Given the description of an element on the screen output the (x, y) to click on. 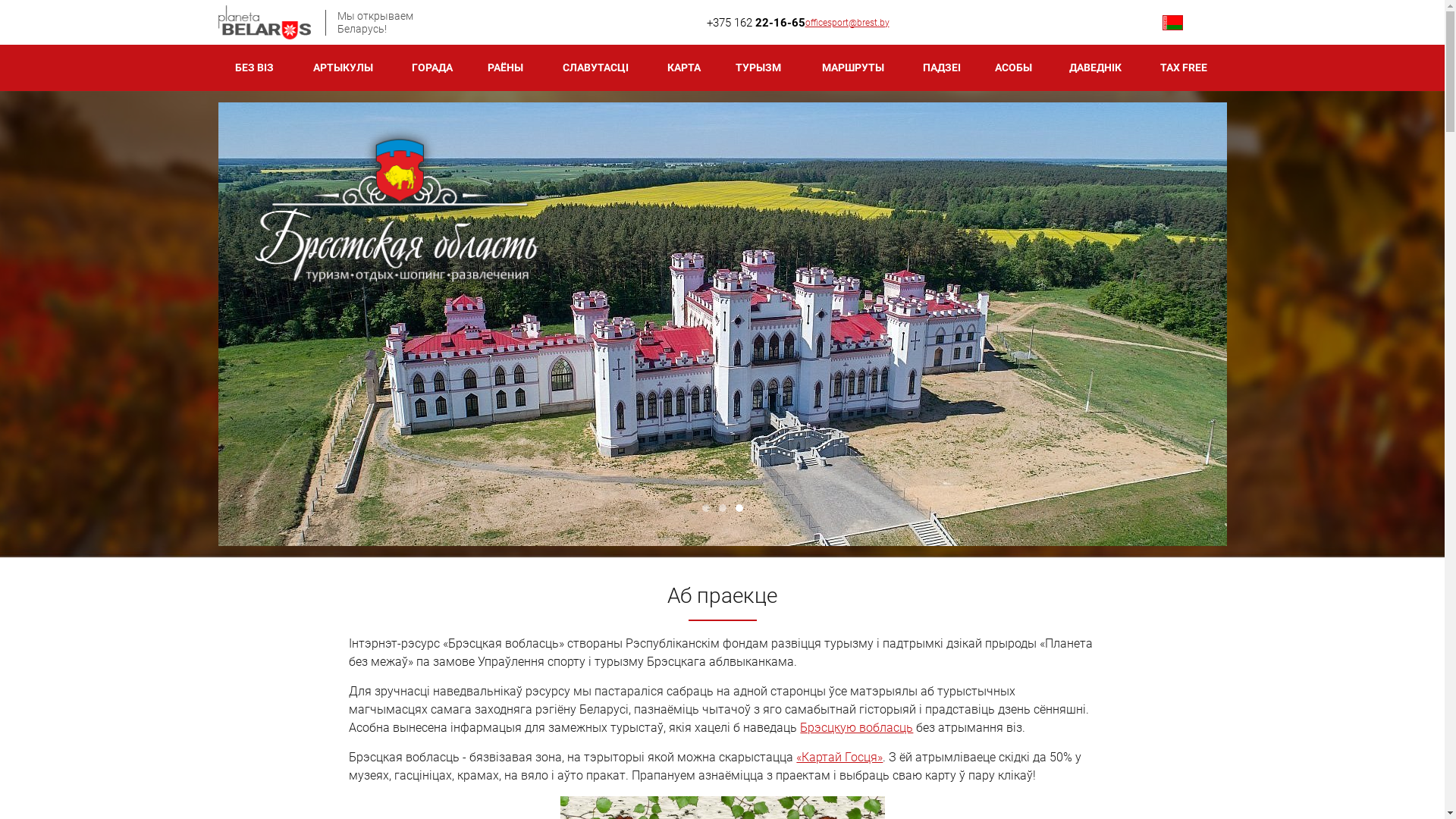
+375 162 22-16-65 Element type: text (755, 22)
TAX FREE Element type: text (1183, 67)
officesport@brest.by Element type: text (847, 21)
